Given the description of an element on the screen output the (x, y) to click on. 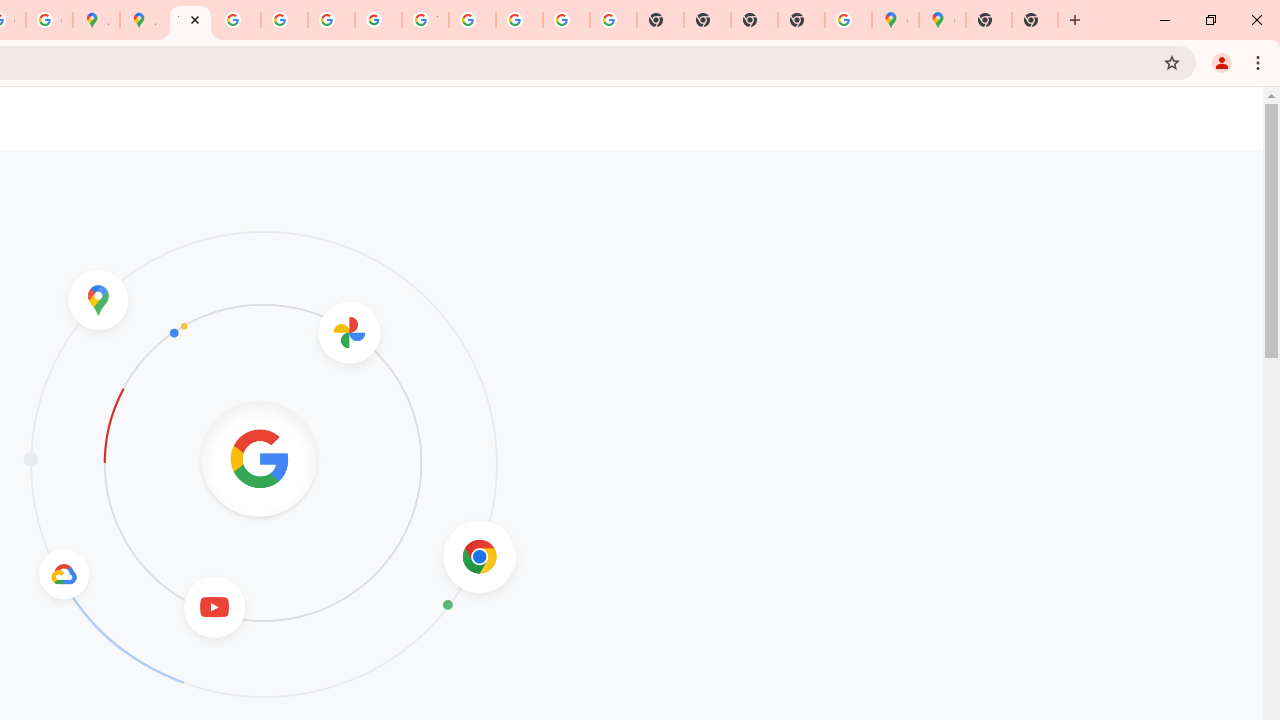
Privacy Help Center - Policies Help (284, 20)
New Tab (989, 20)
Google Maps (942, 20)
